Given the description of an element on the screen output the (x, y) to click on. 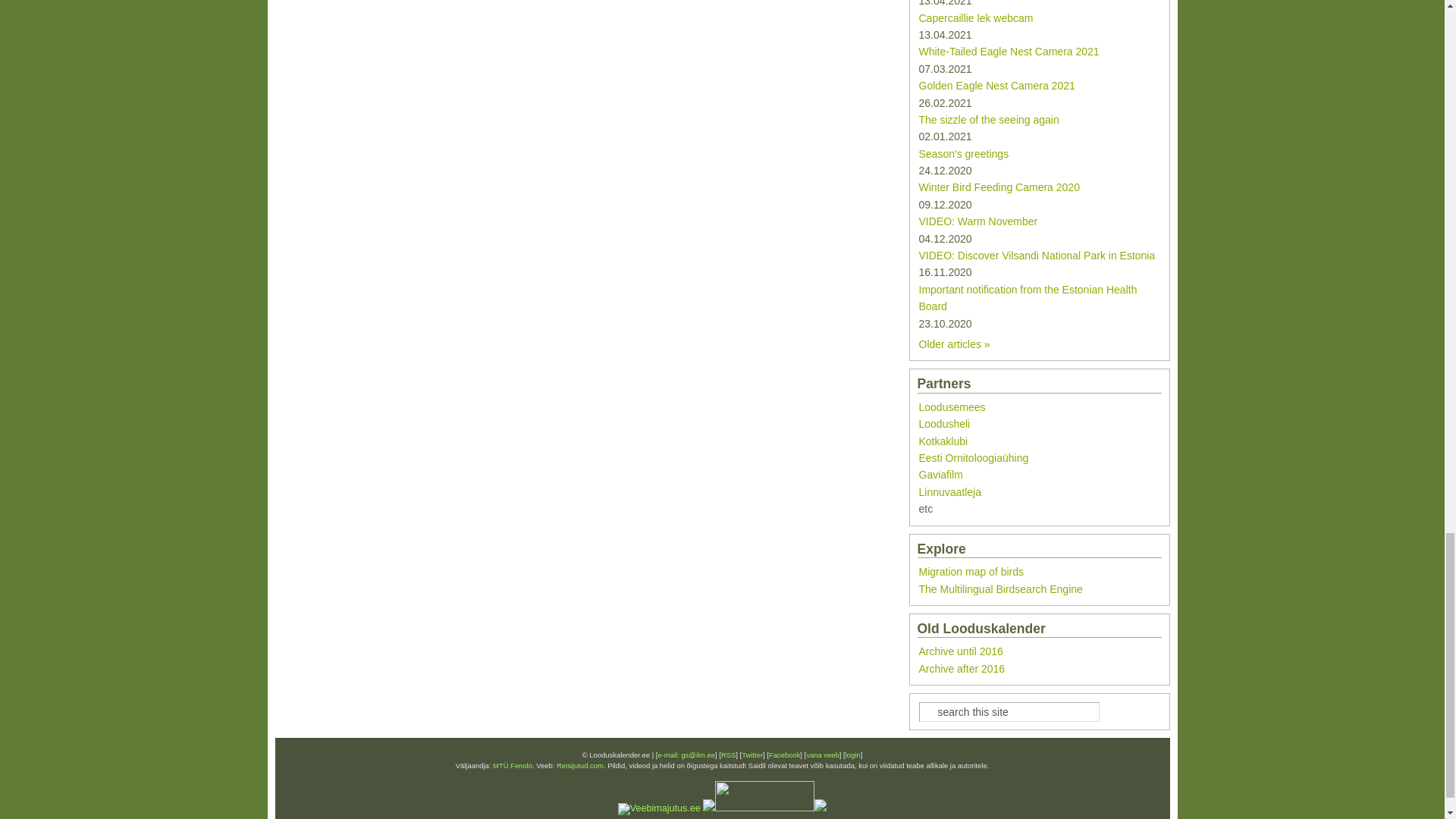
Looduskalender Twitteris (751, 755)
search this site (1008, 711)
search this site (1008, 711)
